Given the description of an element on the screen output the (x, y) to click on. 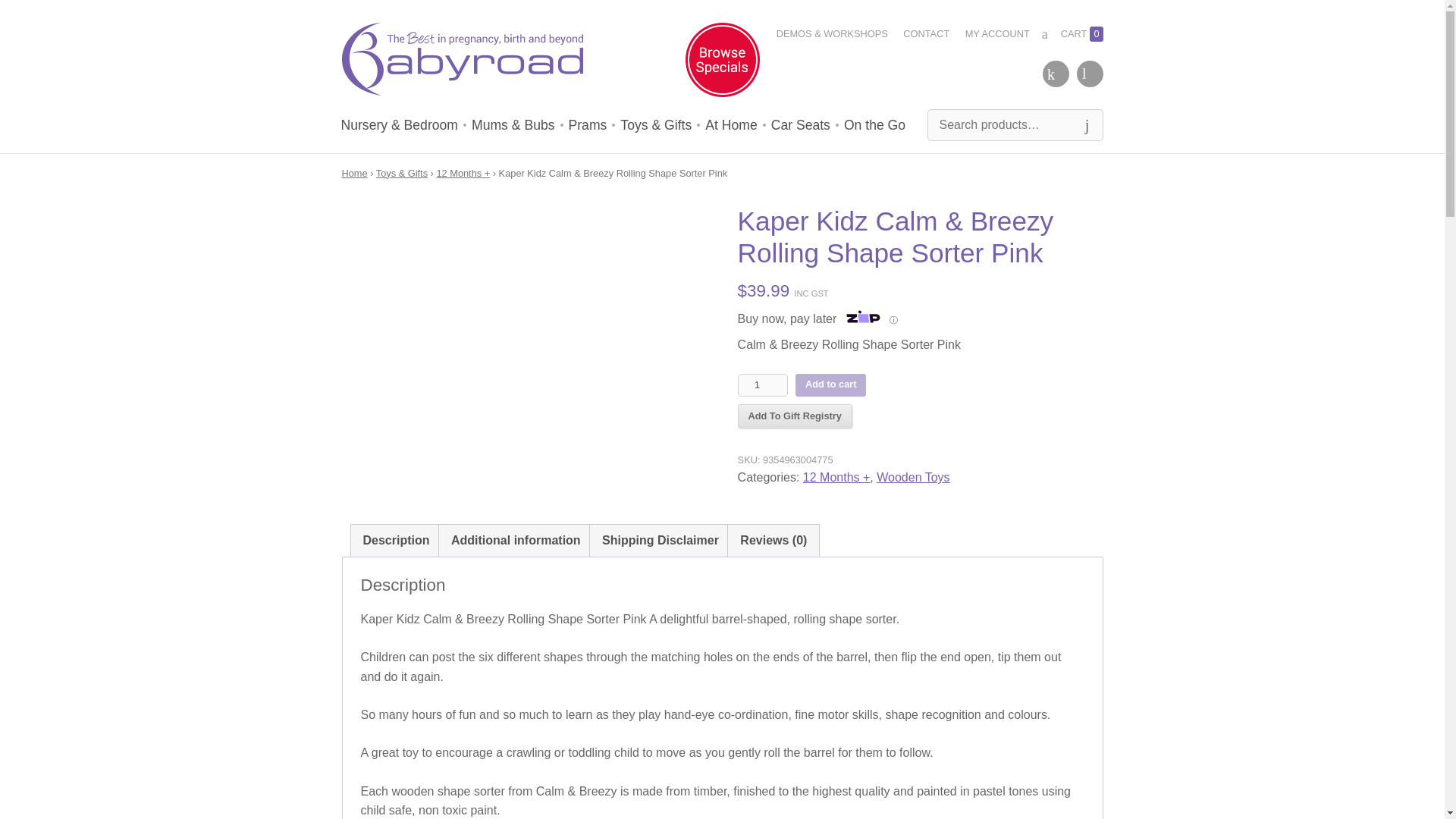
Zip payment Information (891, 319)
1 (763, 384)
MY ACCOUNT (997, 33)
Babyroad (461, 61)
Search (1086, 124)
Car Seats (800, 124)
Browse Specials (722, 62)
Babyroad on Facebook (1055, 73)
CART0 (1072, 33)
Add to cart (830, 384)
At Home (730, 124)
My Account (997, 33)
CONTACT (925, 33)
Home (353, 173)
Babyroad on Instagram (1090, 73)
